Given the description of an element on the screen output the (x, y) to click on. 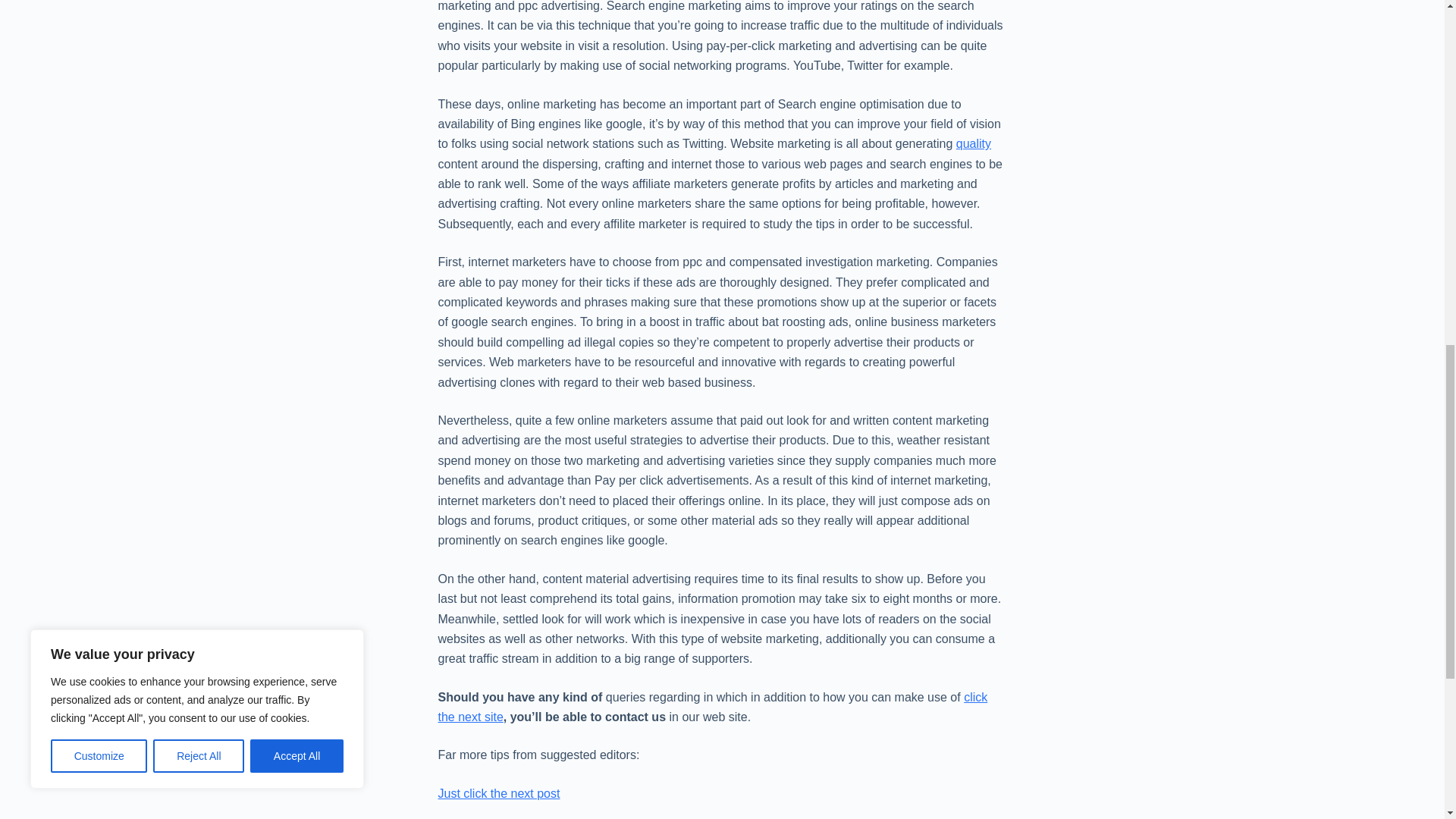
quality (973, 143)
Just click the next post (499, 793)
click the next site (713, 707)
